Given the description of an element on the screen output the (x, y) to click on. 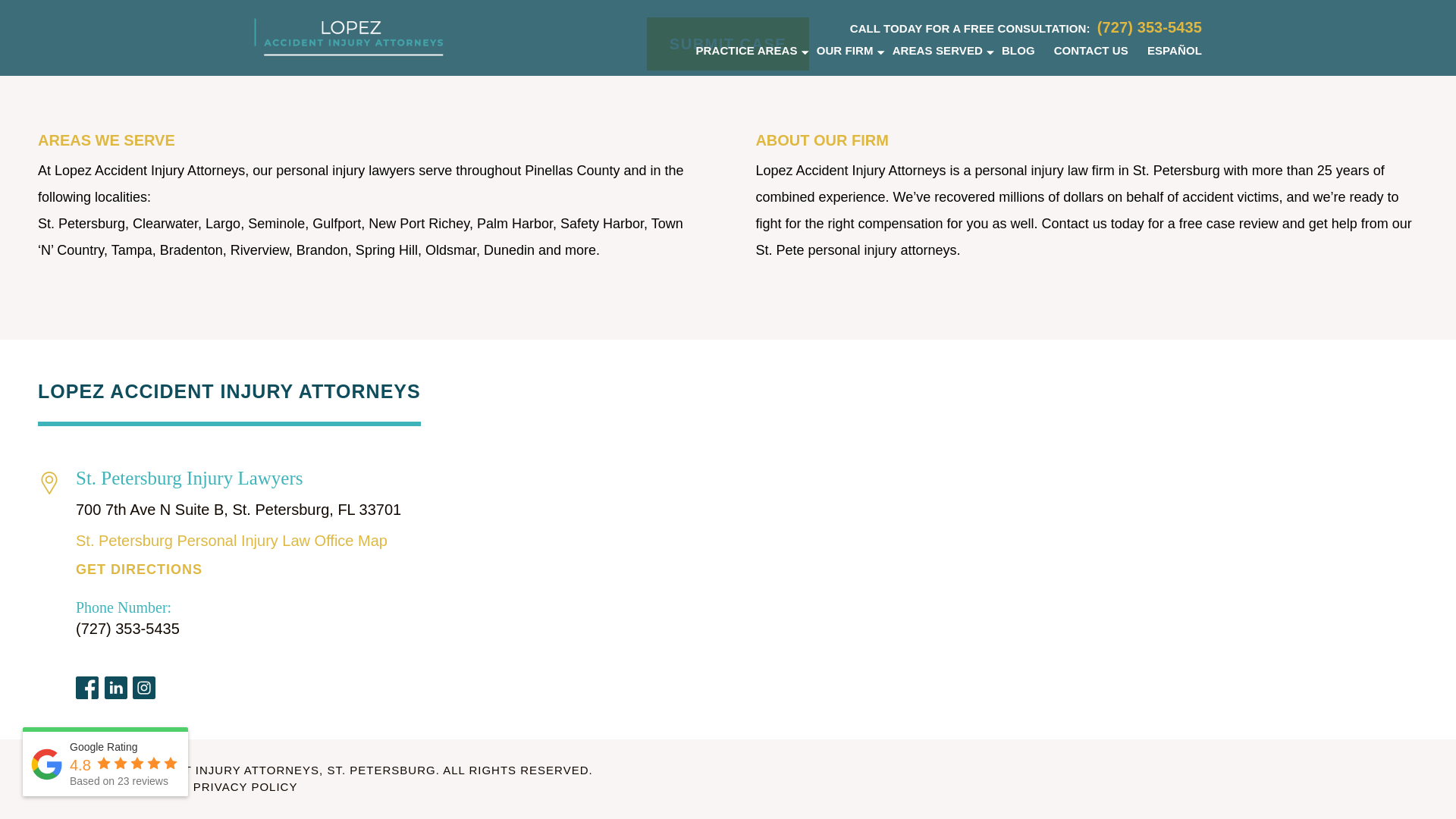
Submit Case (727, 43)
